Given the description of an element on the screen output the (x, y) to click on. 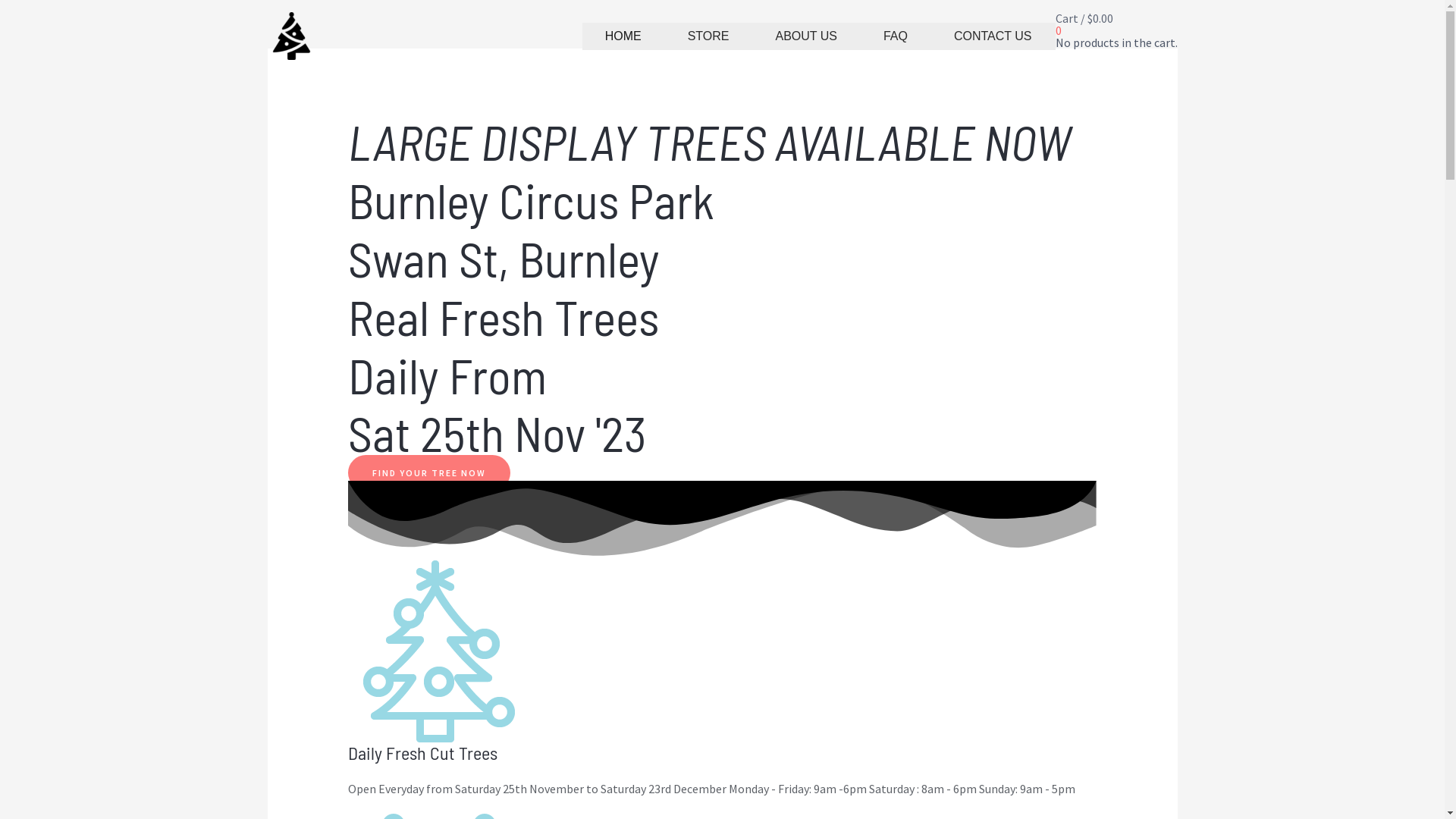
CONTACT US Element type: text (993, 36)
STORE Element type: text (709, 36)
HOME Element type: text (623, 36)
FIND YOUR TREE NOW Element type: text (429, 472)
Cart / $0.00
0 Element type: text (1116, 23)
FAQ Element type: text (895, 36)
ABOUT US Element type: text (806, 36)
